Given the description of an element on the screen output the (x, y) to click on. 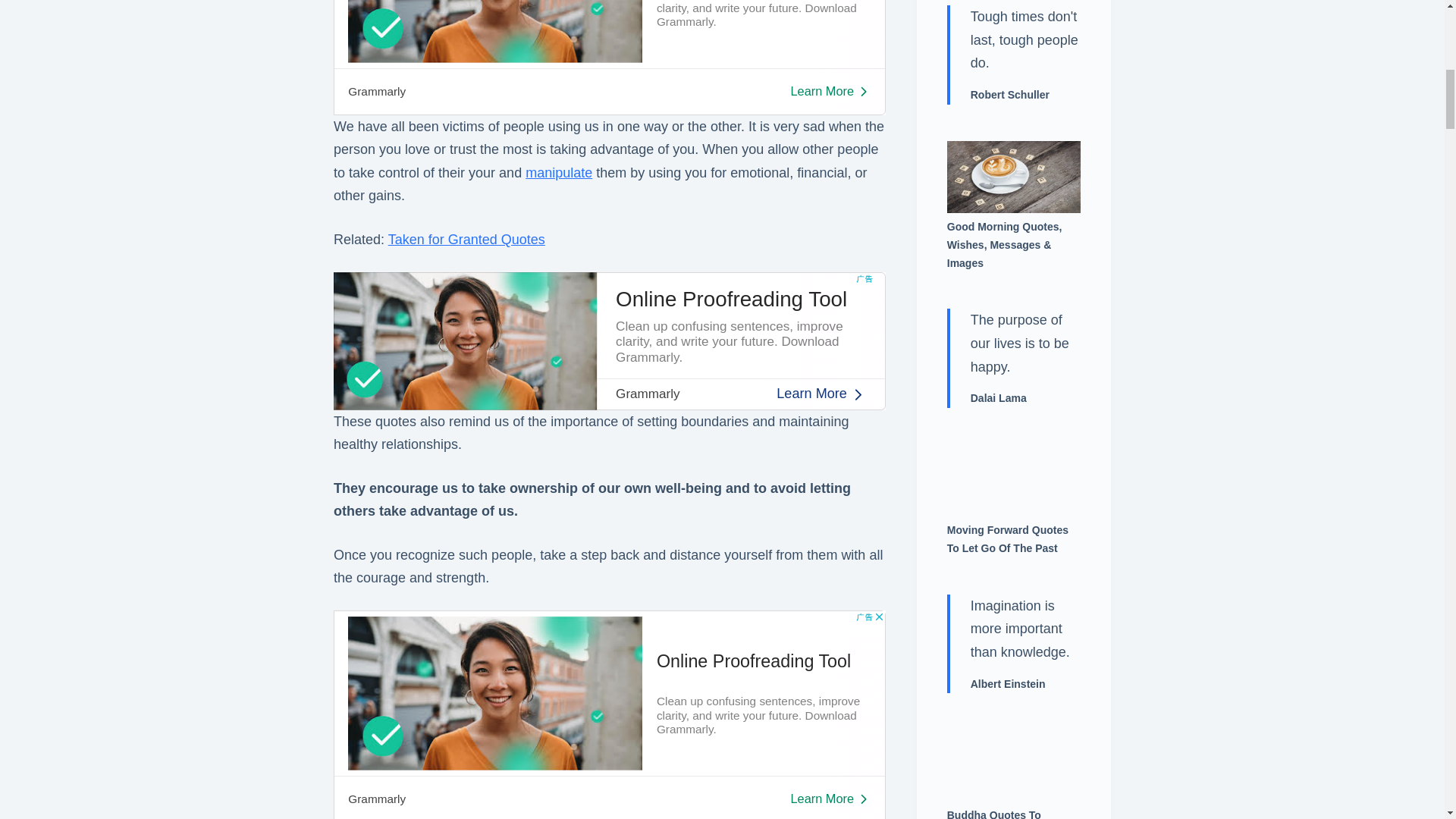
manipulate (558, 172)
Advertisement (609, 340)
Taken for Granted Quotes (466, 239)
Advertisement (609, 57)
Advertisement (609, 714)
